Given the description of an element on the screen output the (x, y) to click on. 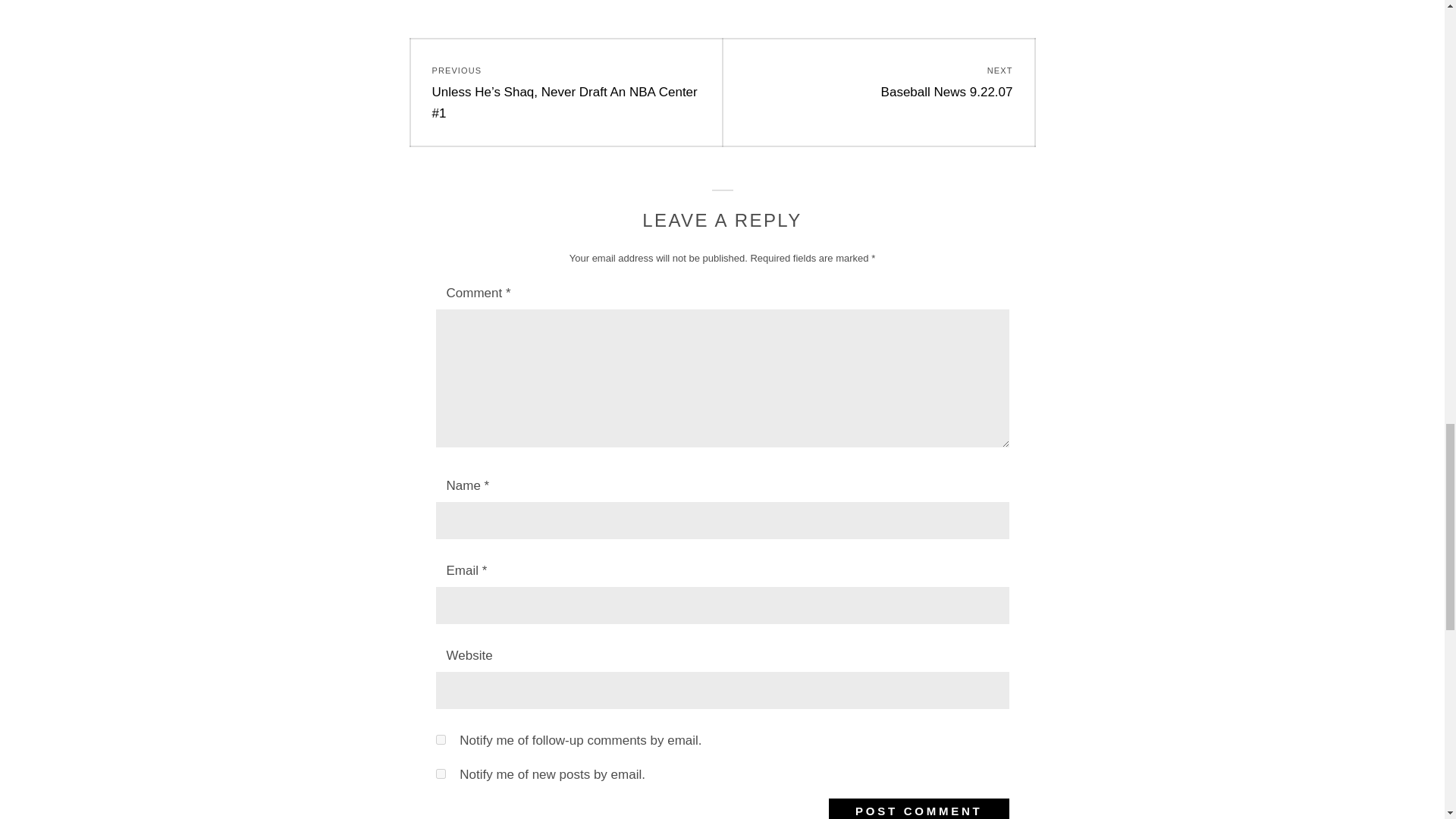
Post Comment (918, 808)
subscribe (878, 81)
Post Comment (440, 773)
subscribe (918, 808)
